Given the description of an element on the screen output the (x, y) to click on. 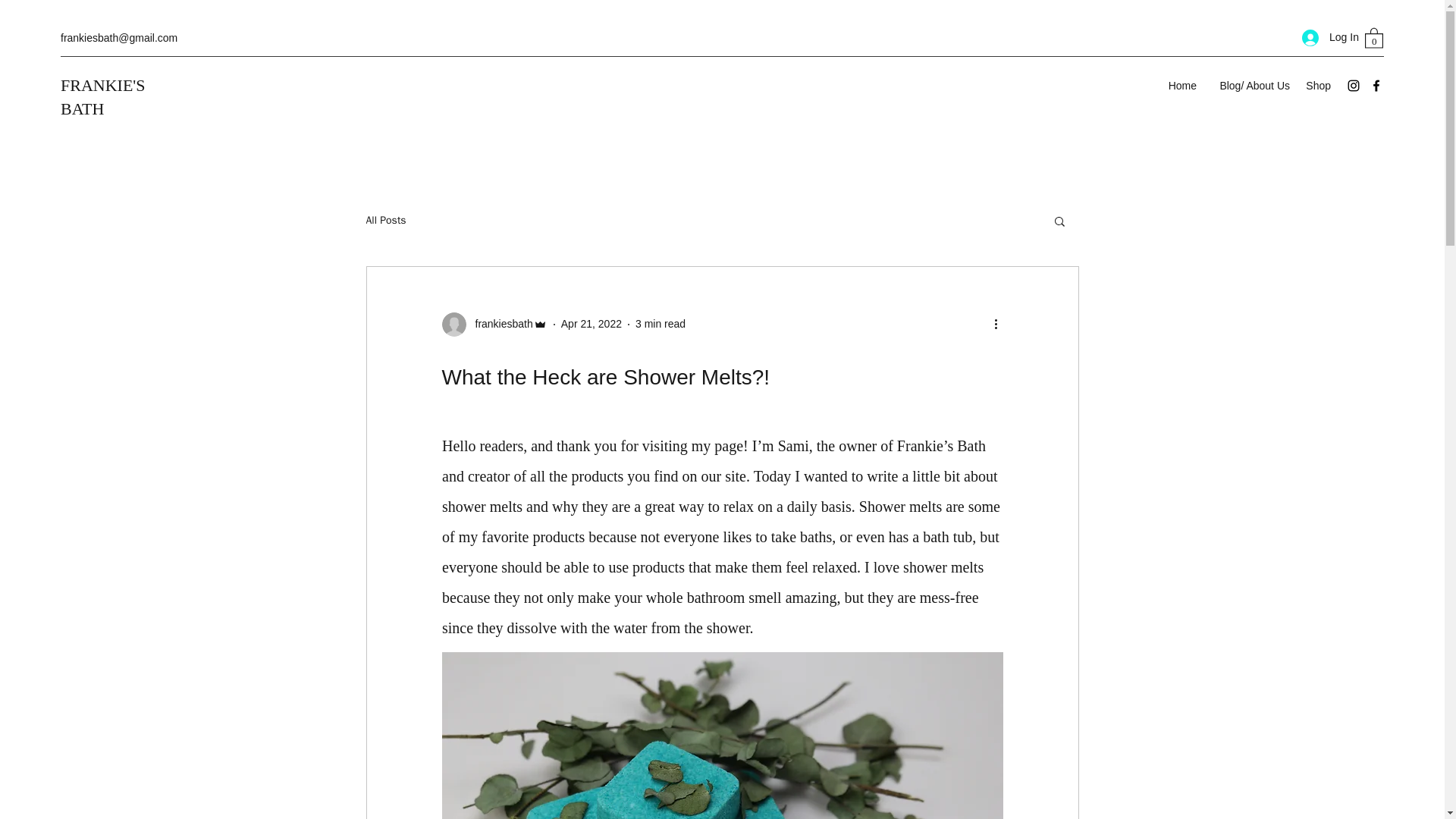
Log In (1325, 37)
FRANKIE'S BATH (103, 96)
3 min read (659, 323)
Shop (1317, 85)
Home (1181, 85)
Apr 21, 2022 (590, 323)
frankiesbath (494, 324)
frankiesbath (498, 324)
All Posts (385, 220)
